Given the description of an element on the screen output the (x, y) to click on. 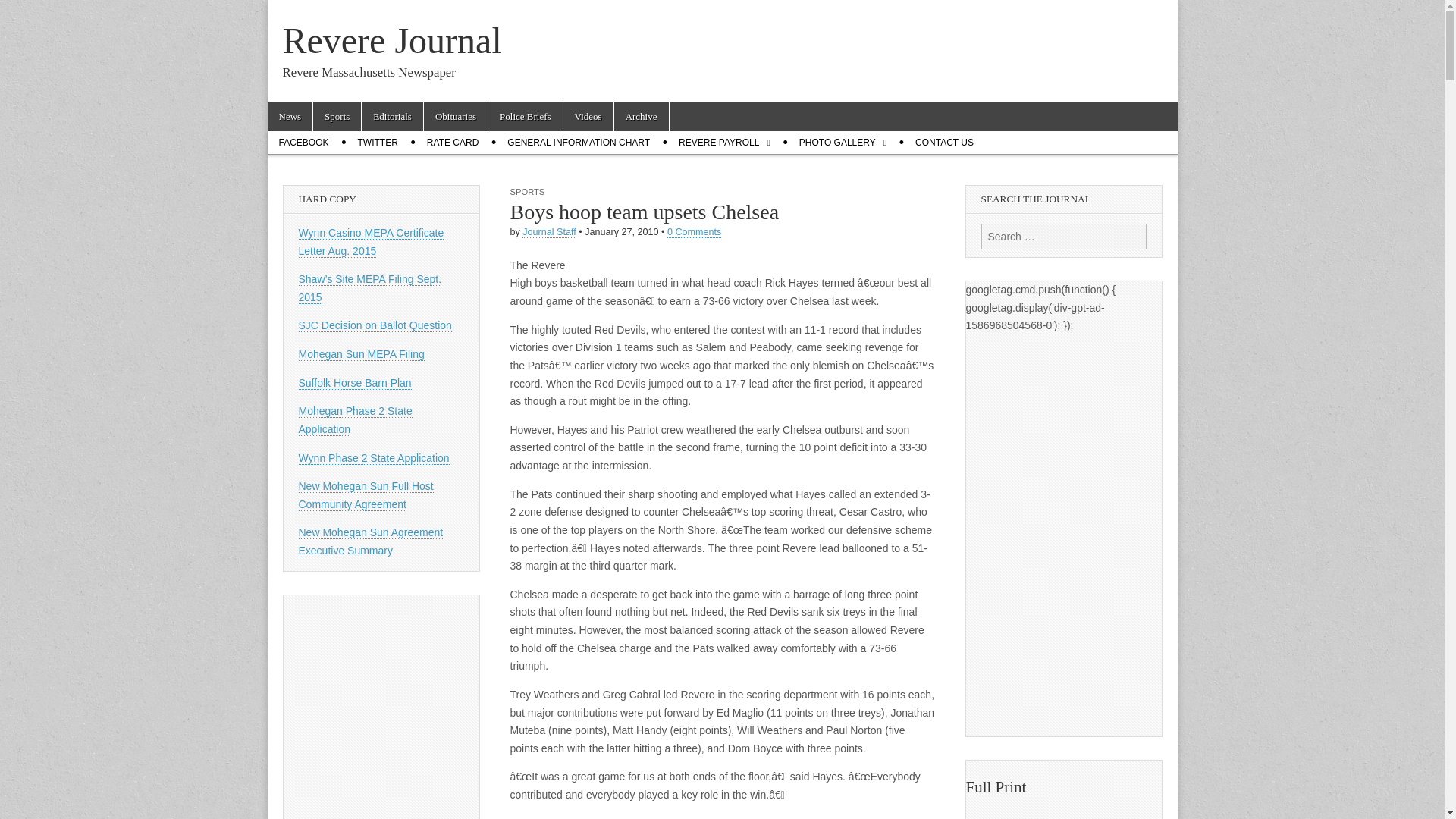
Obituaries (455, 116)
News (289, 116)
Police Briefs (524, 116)
Journal Staff (548, 232)
TWITTER (377, 142)
Videos (587, 116)
Editorials (392, 116)
Revere Journal (391, 40)
PHOTO GALLERY (842, 142)
RATE CARD (451, 142)
SPORTS (526, 191)
GENERAL INFORMATION CHART (578, 142)
Archive (641, 116)
SJC Decision on Ballot Question (374, 325)
